Given the description of an element on the screen output the (x, y) to click on. 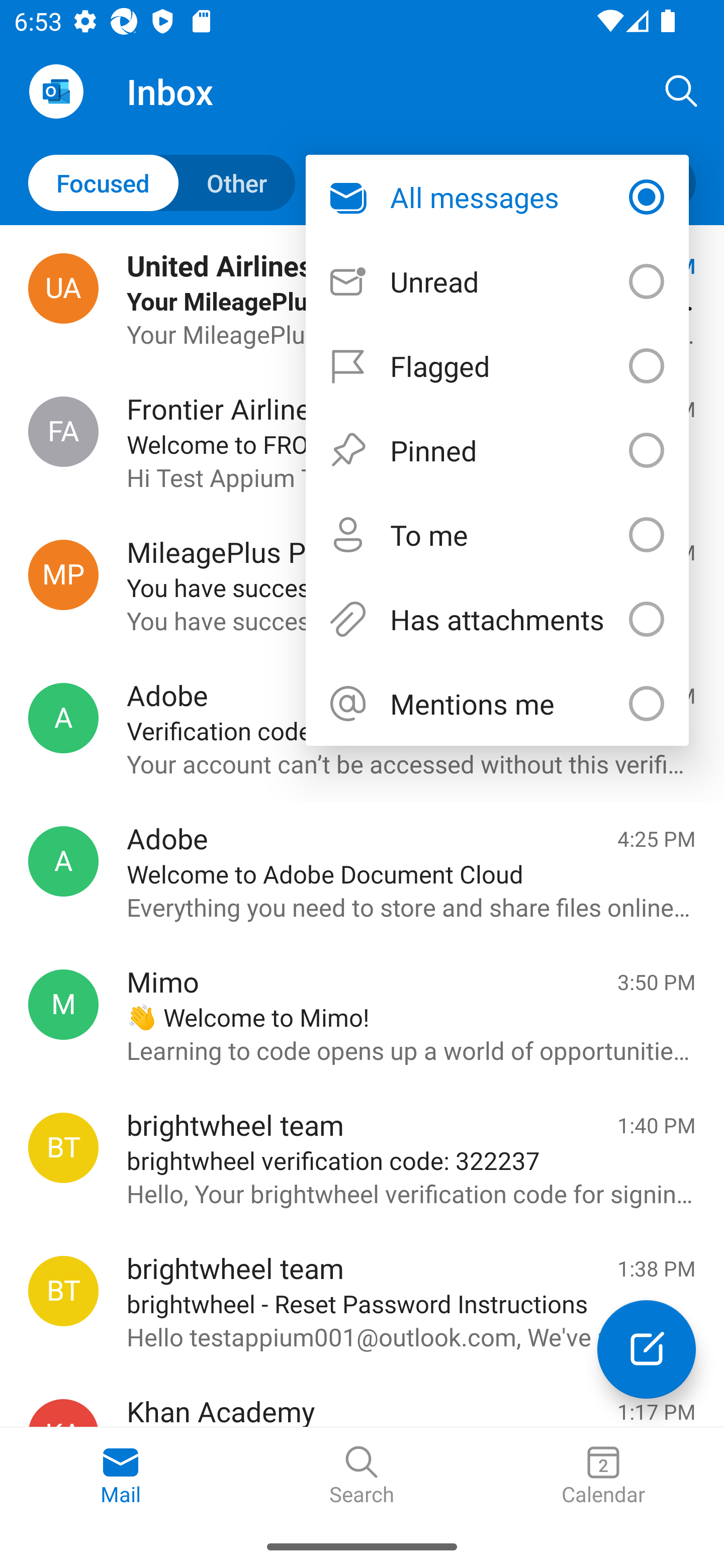
All messages (496, 197)
Unread (496, 281)
Flagged (496, 365)
Pinned (496, 449)
To me (496, 534)
Has attachments (496, 619)
Mentions me (496, 703)
